Given the description of an element on the screen output the (x, y) to click on. 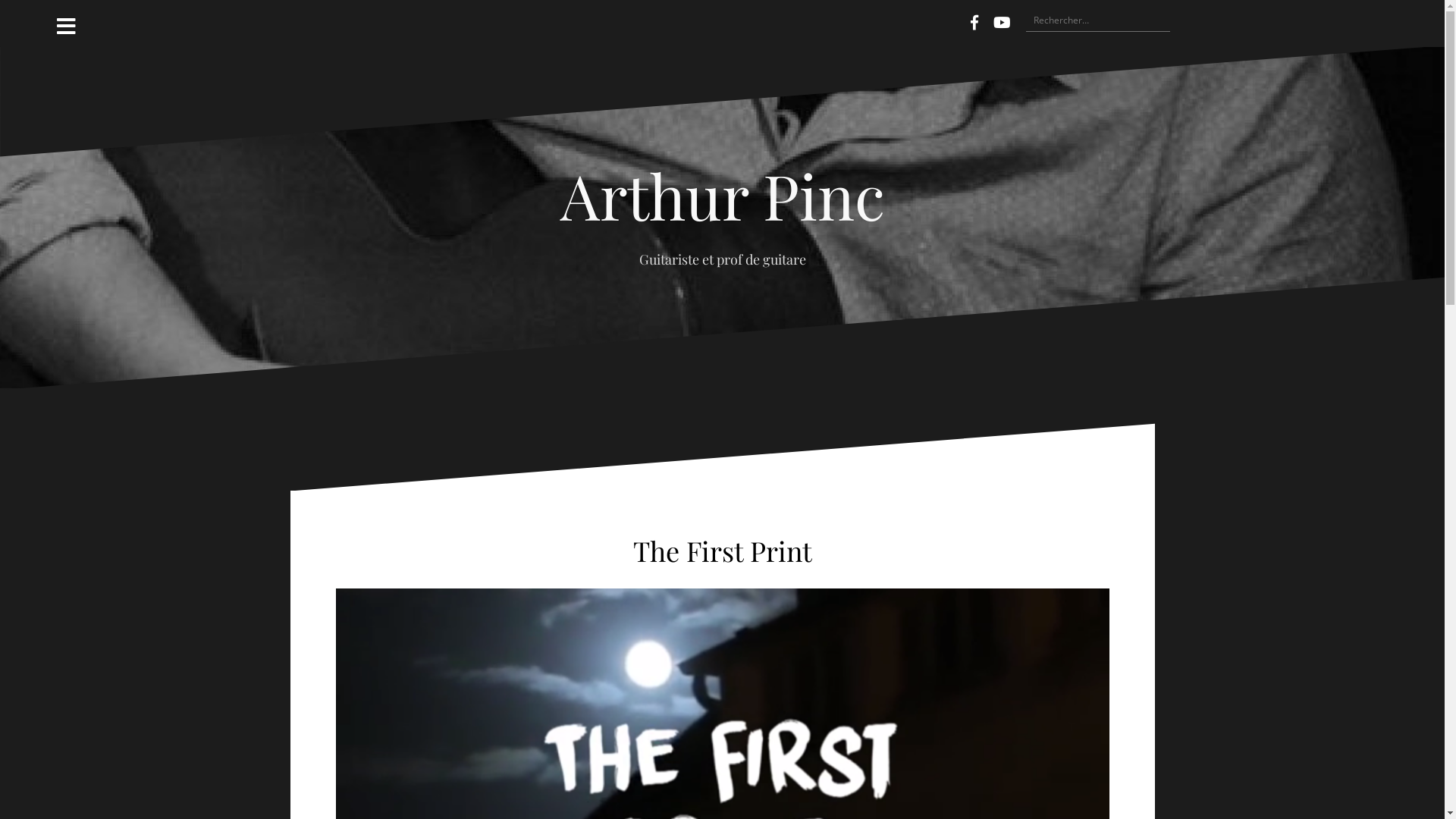
Arthur Pinc Element type: text (721, 194)
Rechercher Element type: text (42, 20)
Page FaceBook Element type: text (974, 22)
